Given the description of an element on the screen output the (x, y) to click on. 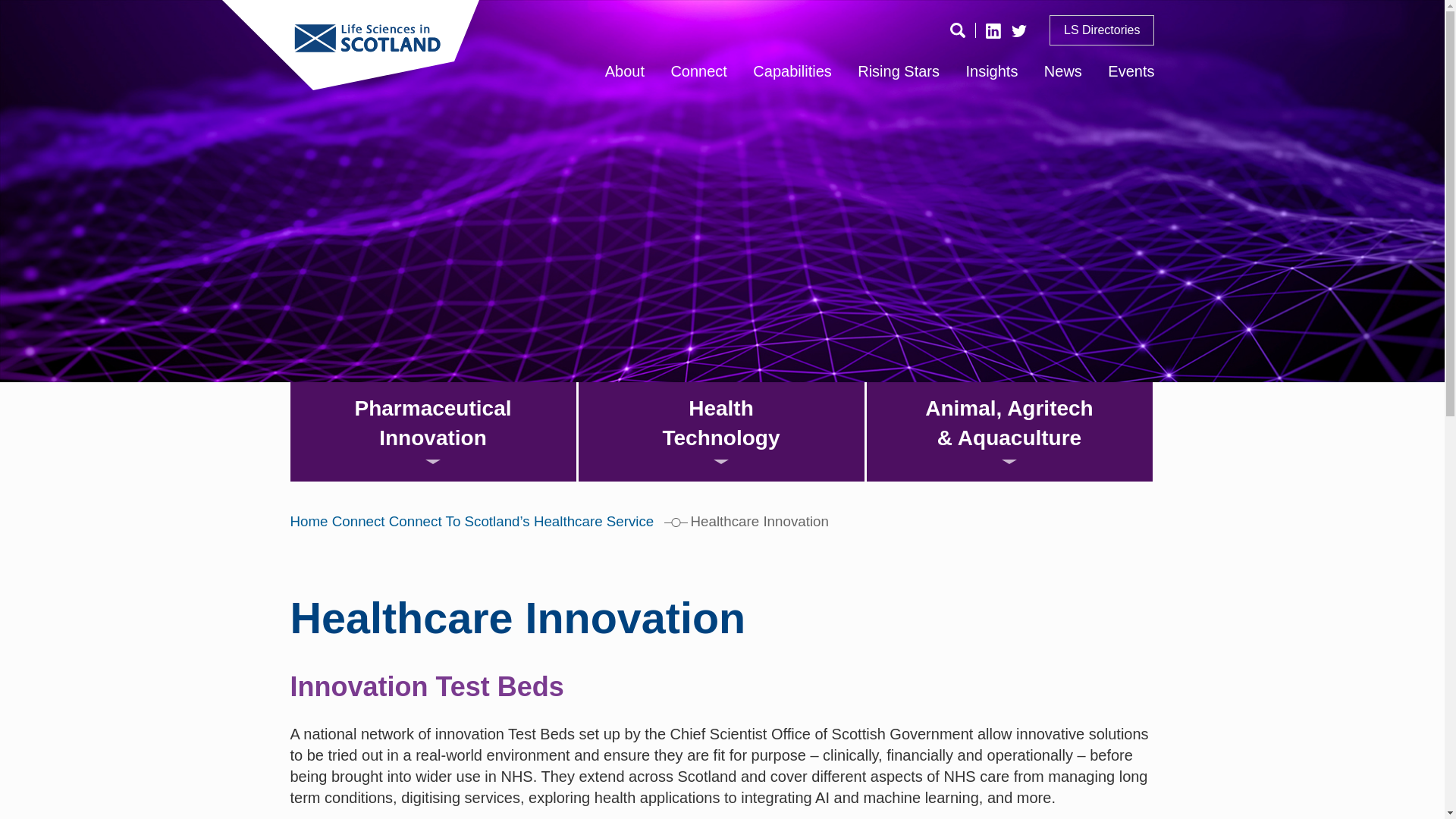
Capabilities (791, 71)
Events (1131, 71)
Health Technology (720, 431)
About (625, 71)
Rising Stars (898, 71)
Pharmaceutical Innovation (432, 431)
LS Directories (1101, 30)
Connect (697, 71)
News (1062, 71)
Insights (991, 71)
